Given the description of an element on the screen output the (x, y) to click on. 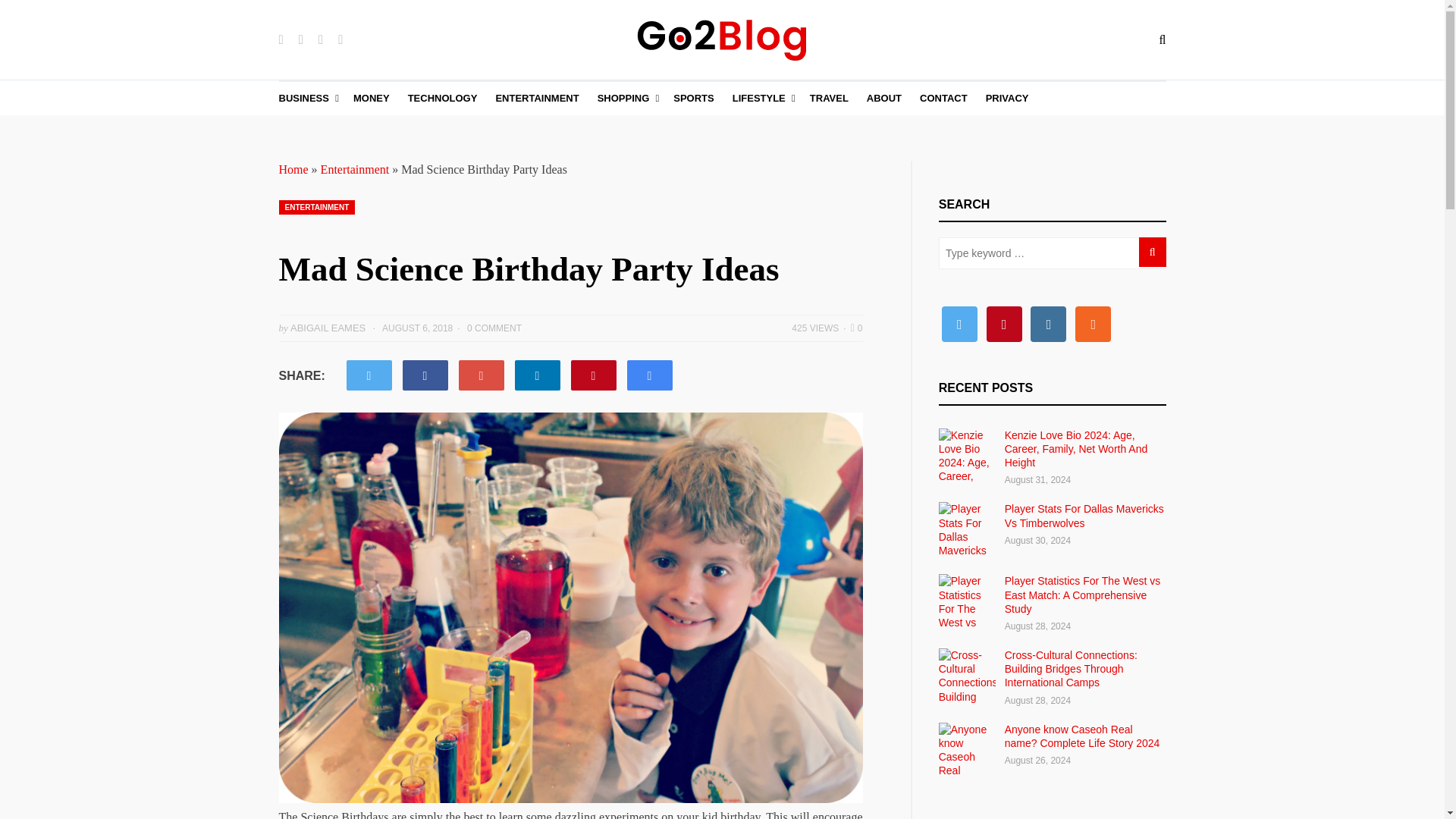
Search for: (1052, 253)
Like this (856, 327)
0 COMMENT (494, 327)
ABOUT (883, 98)
ABIGAIL EAMES (327, 326)
CONTACT (944, 98)
SPORTS (692, 98)
TRAVEL (828, 98)
Home (293, 169)
ENTERTAINMENT (317, 206)
